Given the description of an element on the screen output the (x, y) to click on. 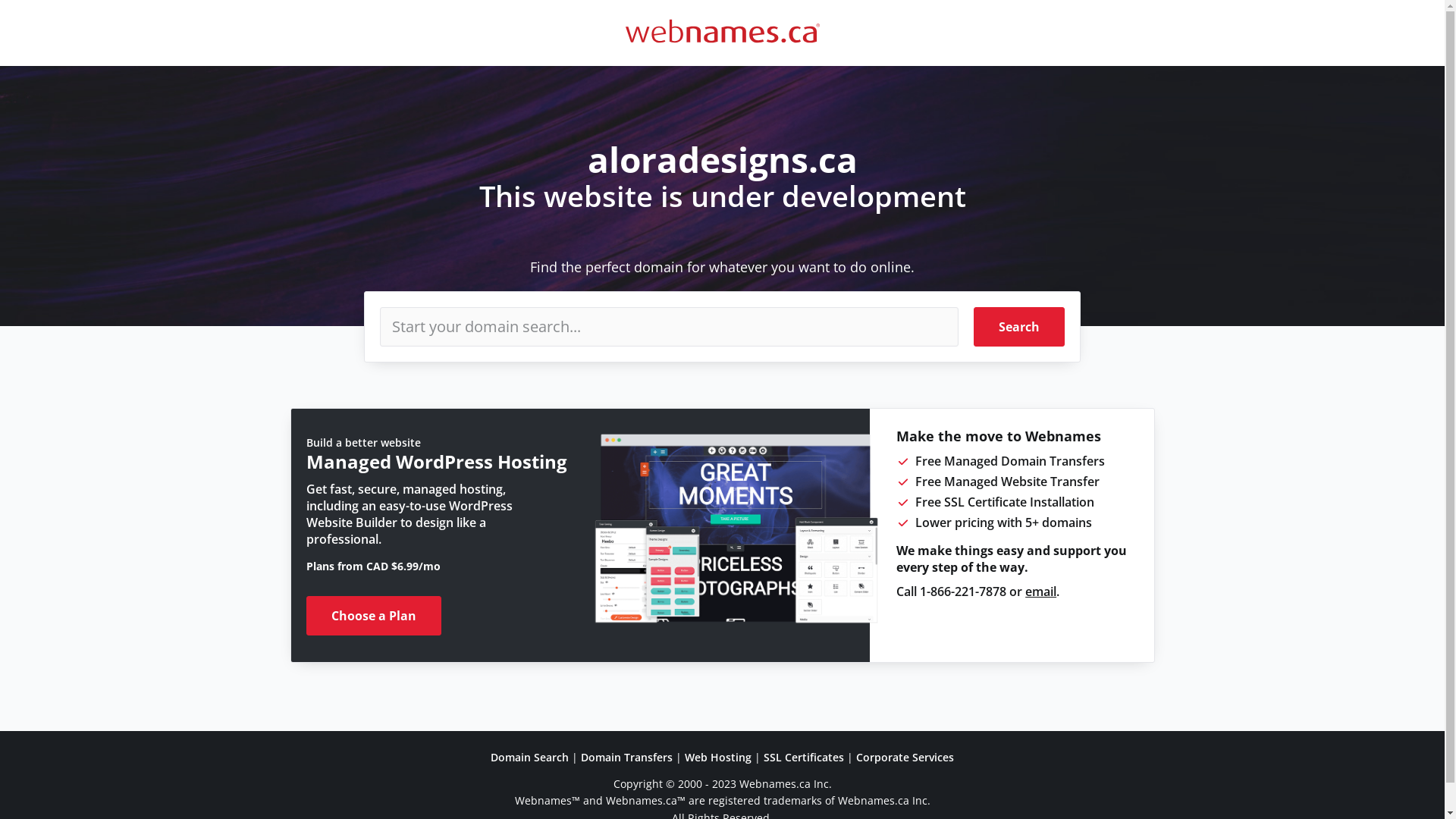
Domain Search Element type: text (529, 756)
Web Hosting Element type: text (717, 756)
Domain Transfers Element type: text (626, 756)
SSL Certificates Element type: text (803, 756)
Corporate Services Element type: text (904, 756)
Choose a Plan Element type: text (373, 615)
email Element type: text (1040, 591)
1-866-221-7878 Element type: text (962, 591)
Search Element type: text (1018, 326)
